Given the description of an element on the screen output the (x, y) to click on. 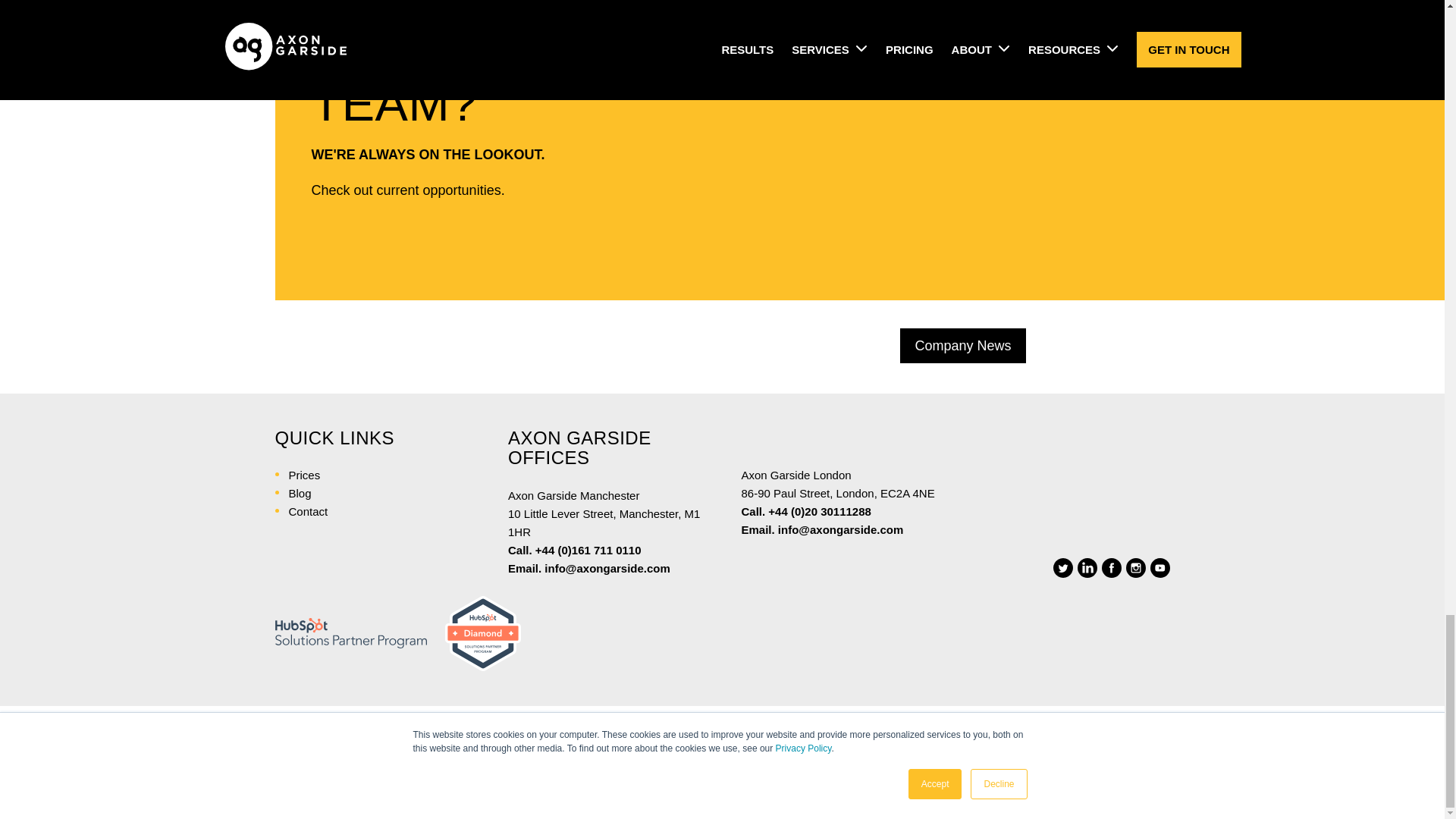
Company News (962, 345)
Contact (307, 511)
Prices (304, 474)
Blog (299, 492)
